Given the description of an element on the screen output the (x, y) to click on. 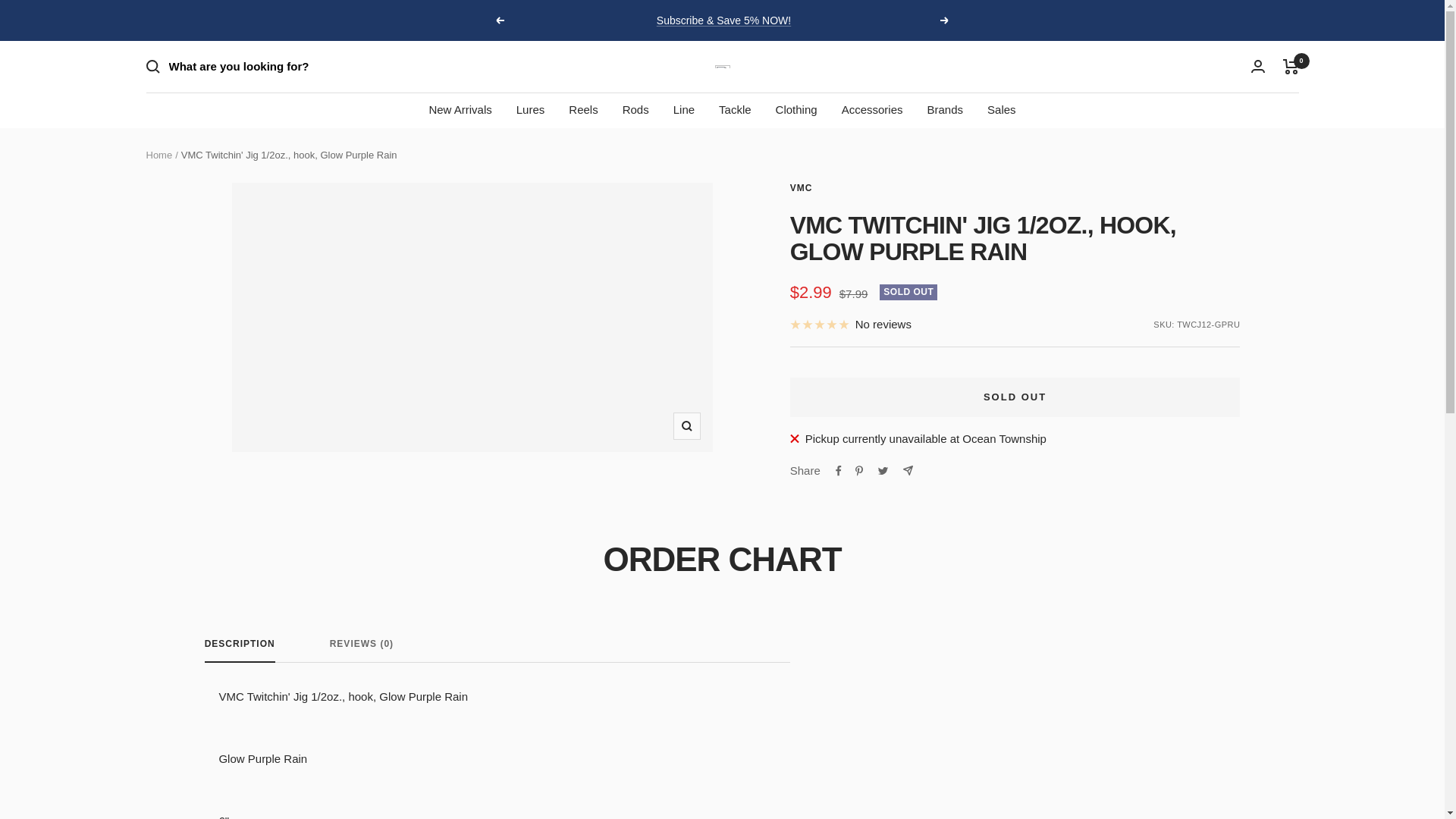
Accessories (871, 109)
Home (158, 154)
Reels (582, 109)
Brands (944, 109)
New Arrivals (460, 109)
Previous (499, 20)
Next (944, 20)
Fishermen's Source (721, 66)
Lures (530, 109)
Clothing (796, 109)
No reviews (850, 324)
SOLD OUT (1015, 396)
Zoom (686, 425)
Tackle (735, 109)
0 (1290, 66)
